Given the description of an element on the screen output the (x, y) to click on. 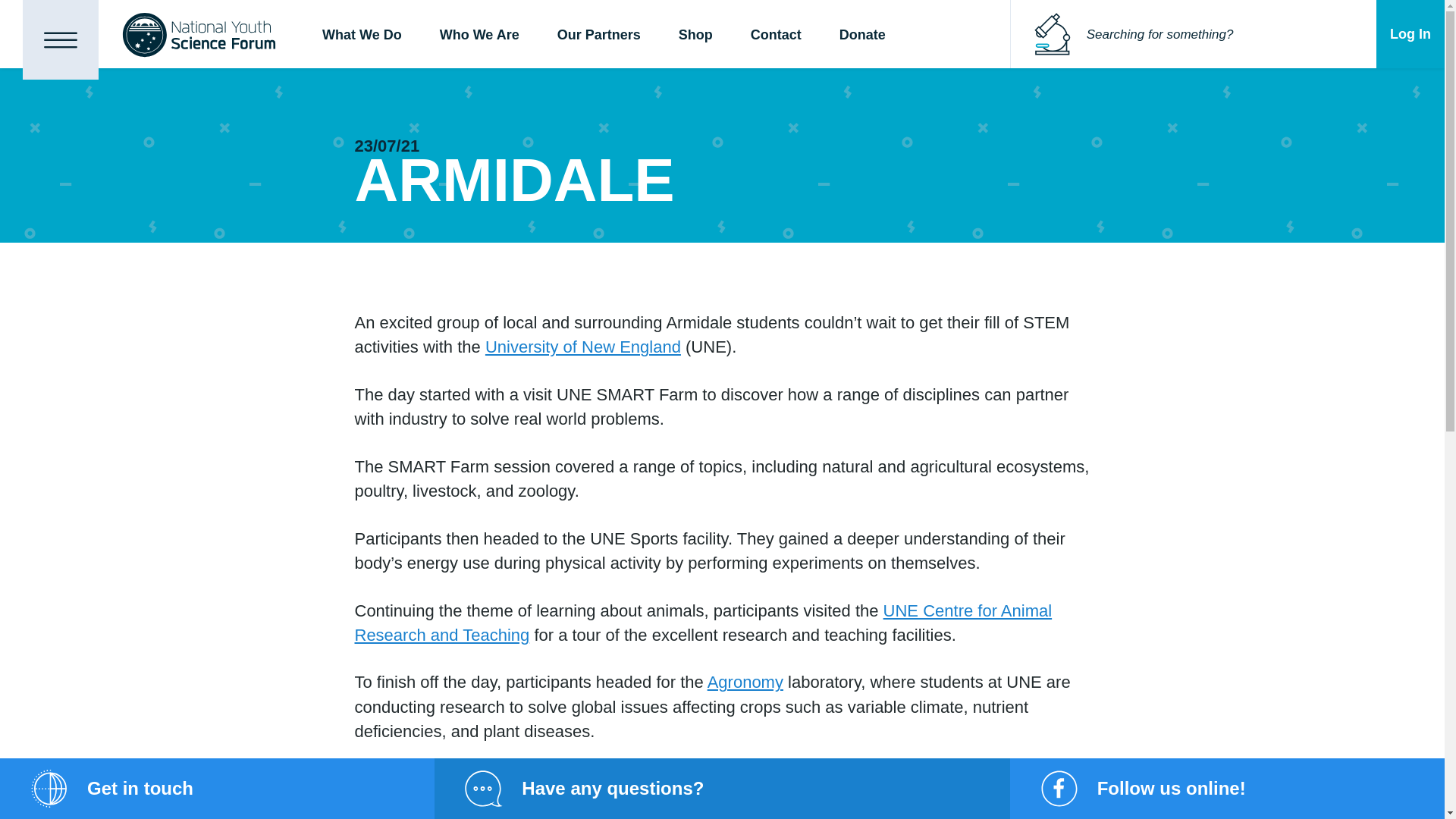
Open Hamburger Menu (61, 39)
